Given the description of an element on the screen output the (x, y) to click on. 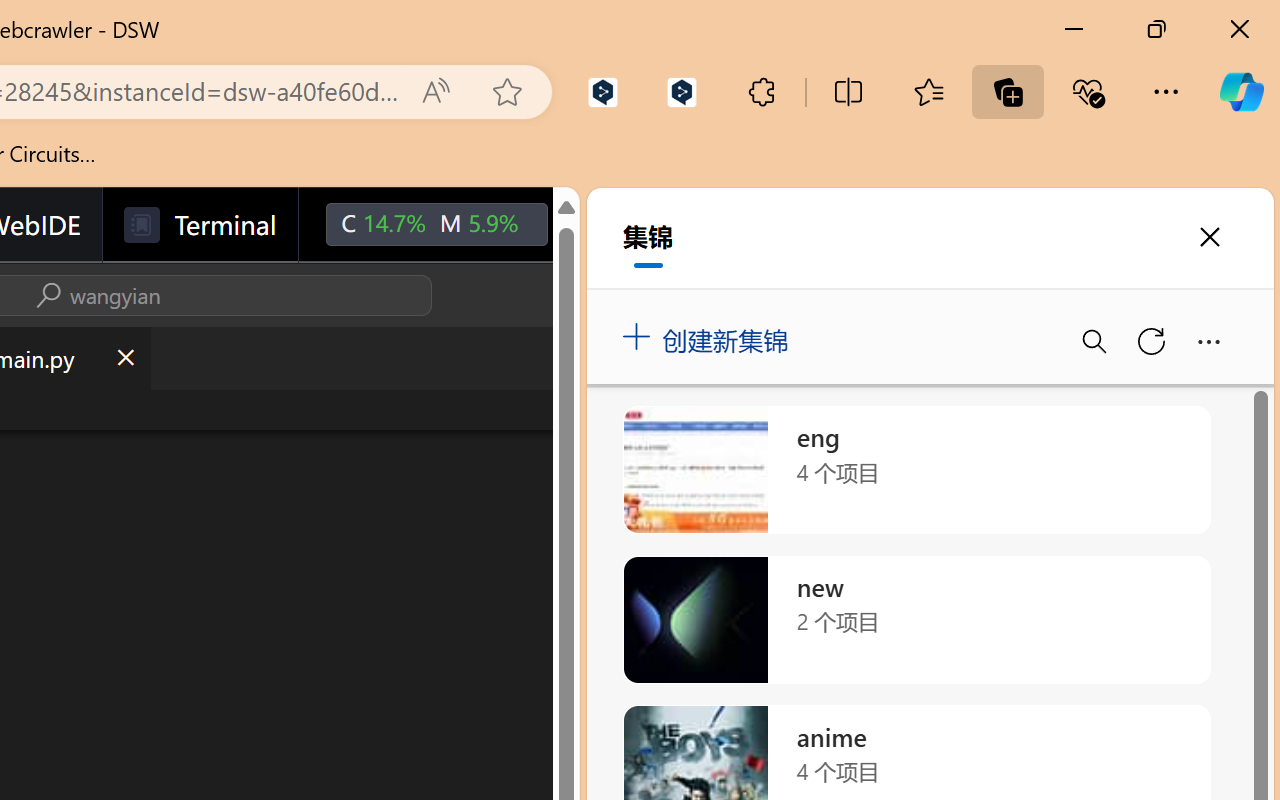
Tab actions (123, 358)
Copilot (Ctrl+Shift+.) (1241, 91)
icon (591, 224)
Class: next-menu next-hoz widgets--iconMenu--BFkiHRM (591, 225)
